Given the description of an element on the screen output the (x, y) to click on. 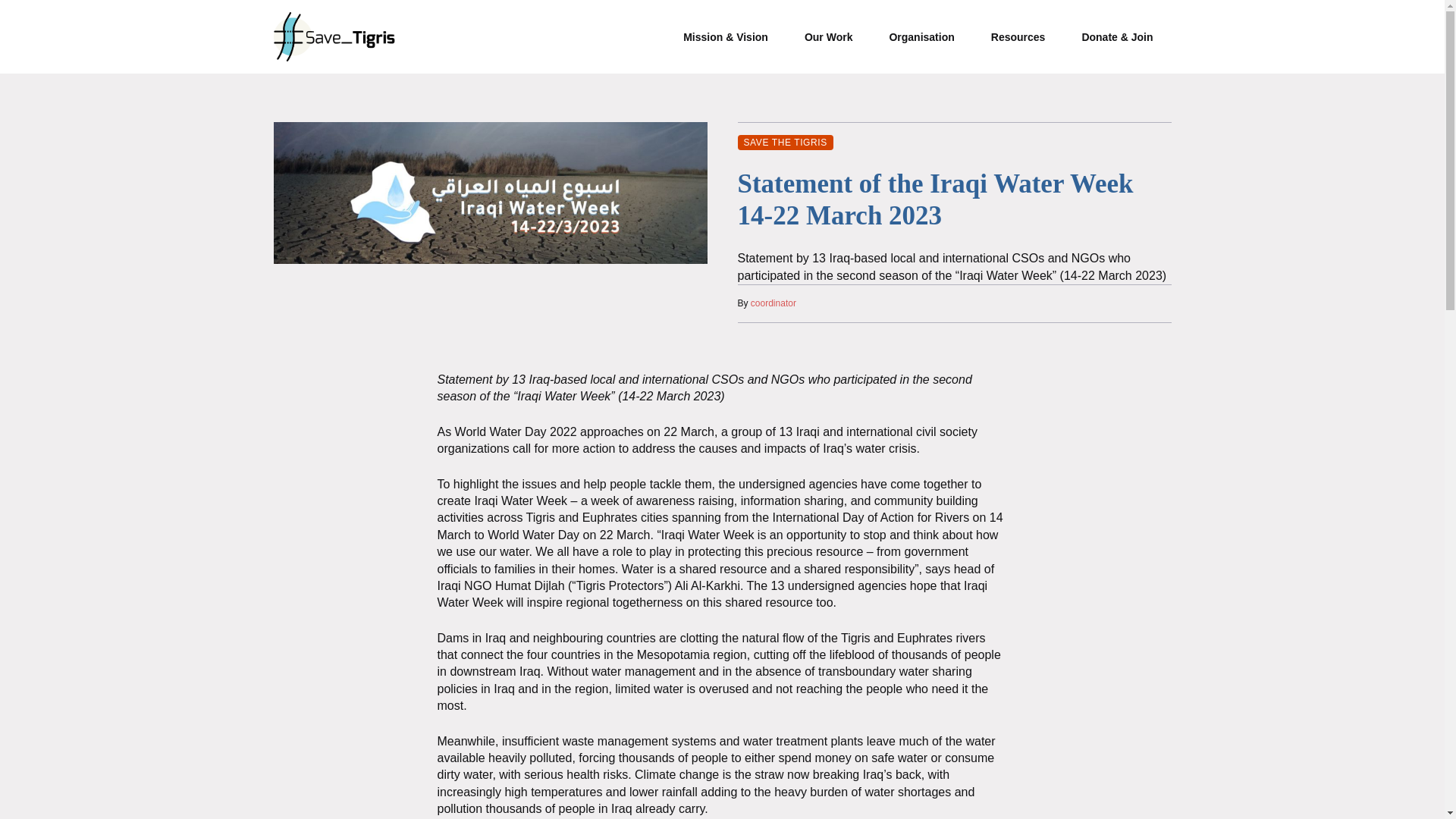
Organisation (921, 36)
Our Work (828, 36)
coordinator (773, 303)
Resources (1018, 36)
